Given the description of an element on the screen output the (x, y) to click on. 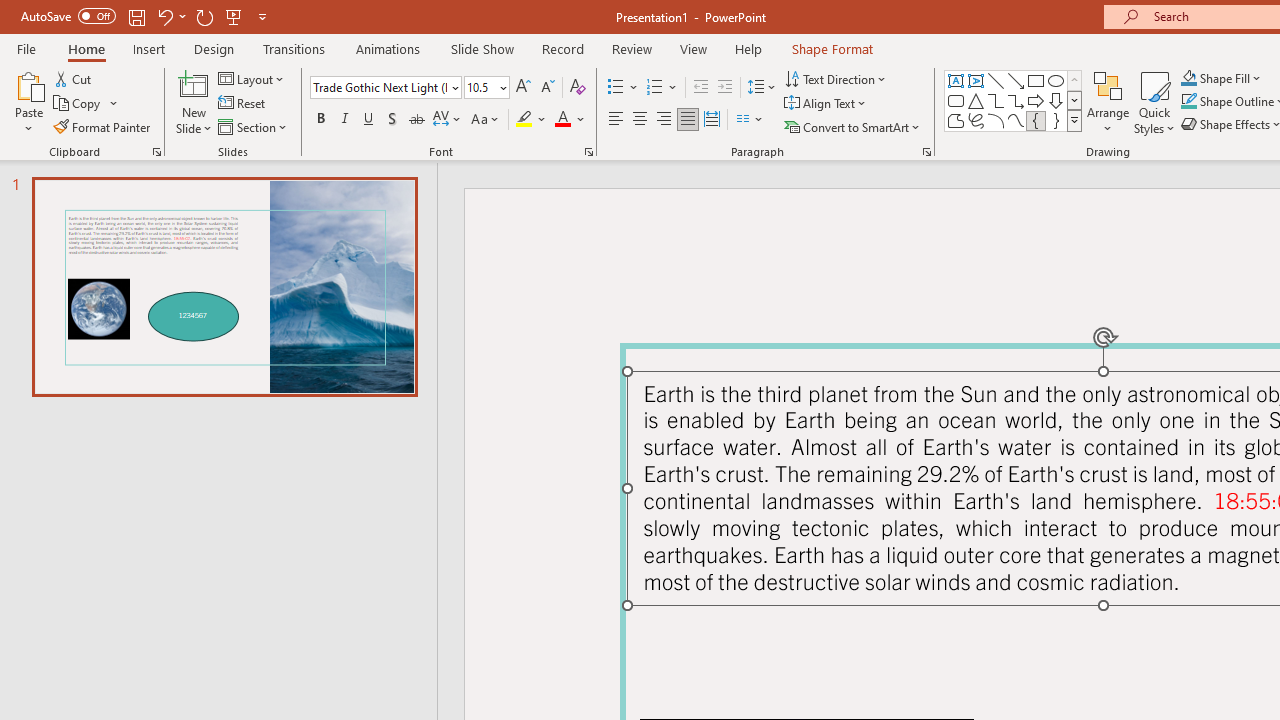
Columns (750, 119)
Arc (995, 120)
Office Clipboard... (156, 151)
Bullets (616, 87)
Class: NetUIImage (1075, 120)
Text Highlight Color (531, 119)
Arrow: Down (1055, 100)
Curve (1016, 120)
Shapes (1074, 120)
Shape Outline Teal, Accent 1 (1188, 101)
Text Direction (836, 78)
